Given the description of an element on the screen output the (x, y) to click on. 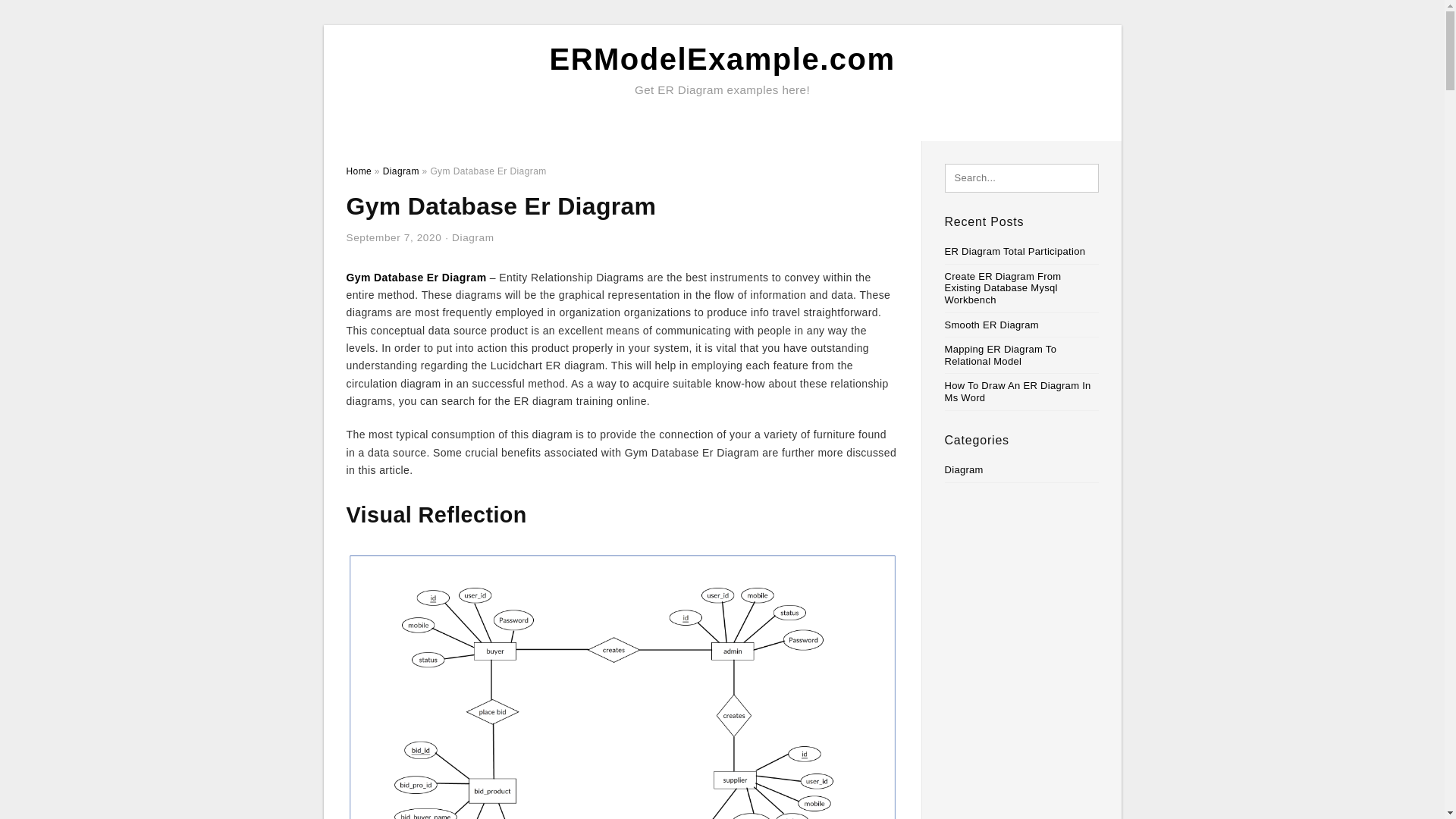
ERModelExample.com (721, 59)
Home (358, 171)
Diagram (473, 237)
ER Diagram Total Participation (1015, 251)
Search (43, 15)
Create ER Diagram From Existing Database Mysql Workbench (1002, 288)
Gym Database Er Diagram (416, 277)
Diagram (400, 171)
Smooth ER Diagram (991, 324)
